Given the description of an element on the screen output the (x, y) to click on. 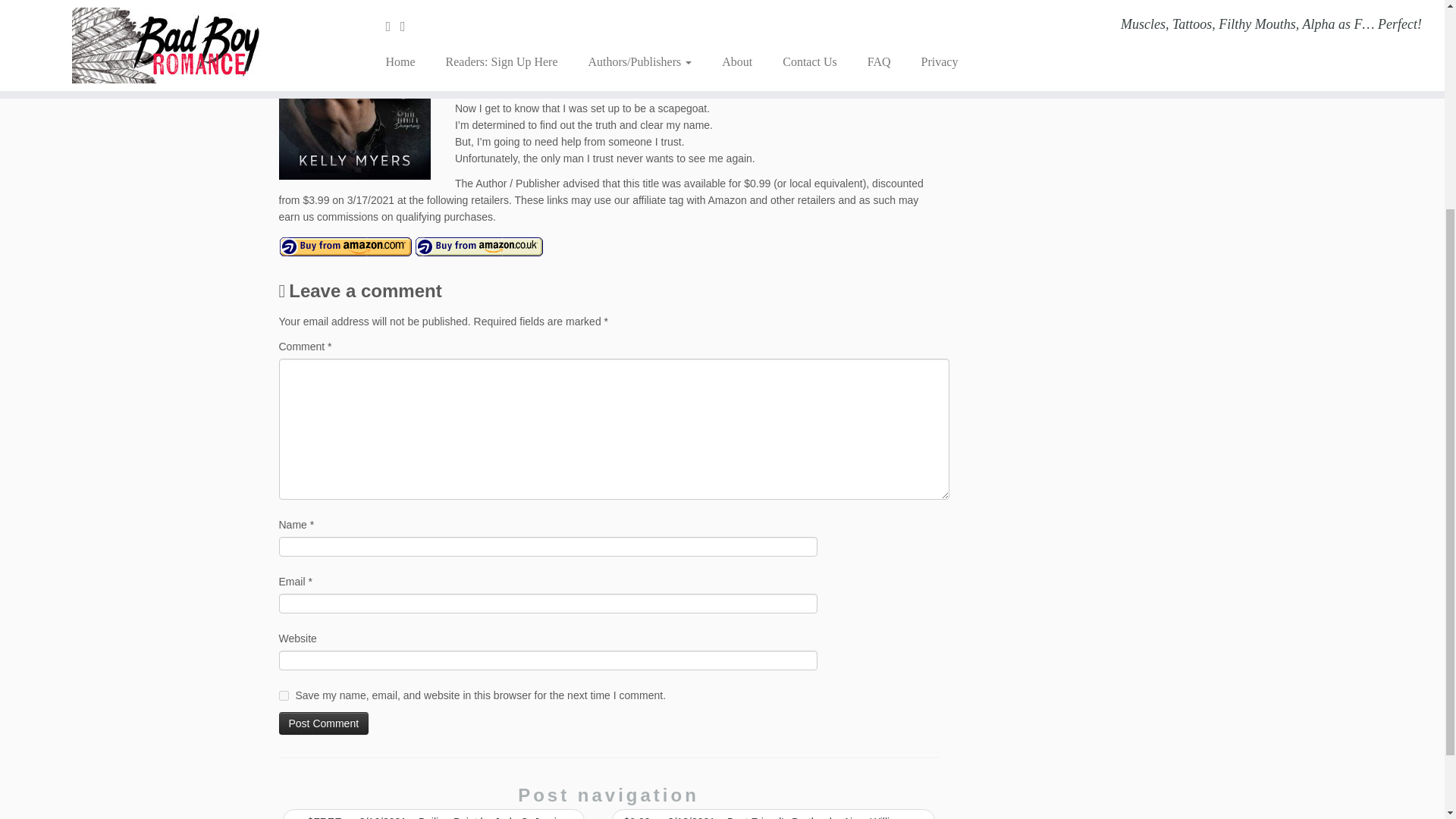
Post Comment (324, 722)
yes (283, 696)
Post Comment (324, 722)
